Given the description of an element on the screen output the (x, y) to click on. 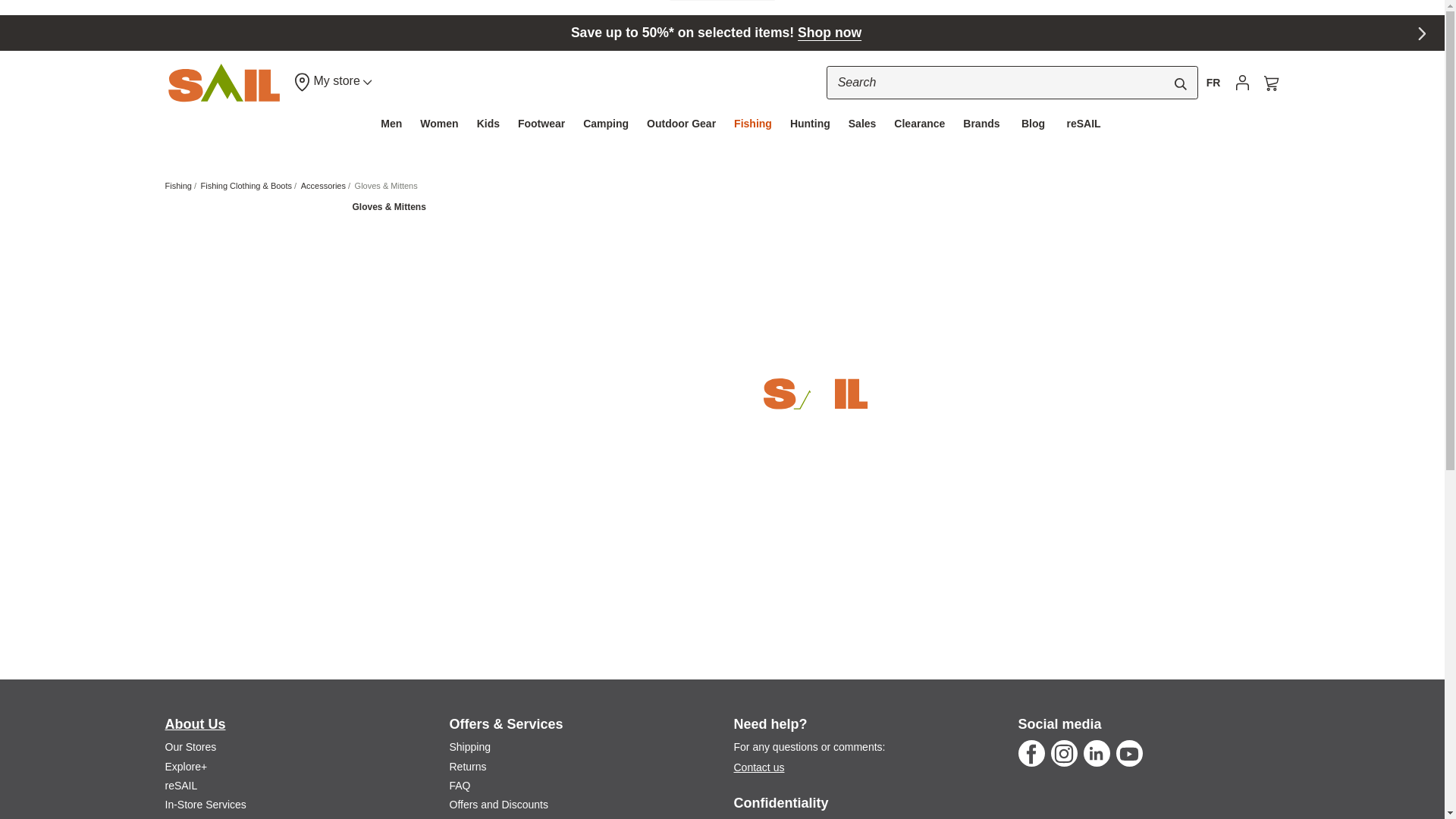
Search (1012, 82)
Brands (980, 123)
Men (390, 123)
In-Store Services (205, 804)
Sail Plein Air (223, 82)
Sail Blog (175, 818)
Rewards Program (186, 766)
Our Stores (190, 746)
Plateform for second-hand products (181, 785)
My store (332, 82)
Search (1180, 83)
Next (1424, 36)
Account (1241, 82)
FR (1214, 82)
Shop now (829, 32)
